Given the description of an element on the screen output the (x, y) to click on. 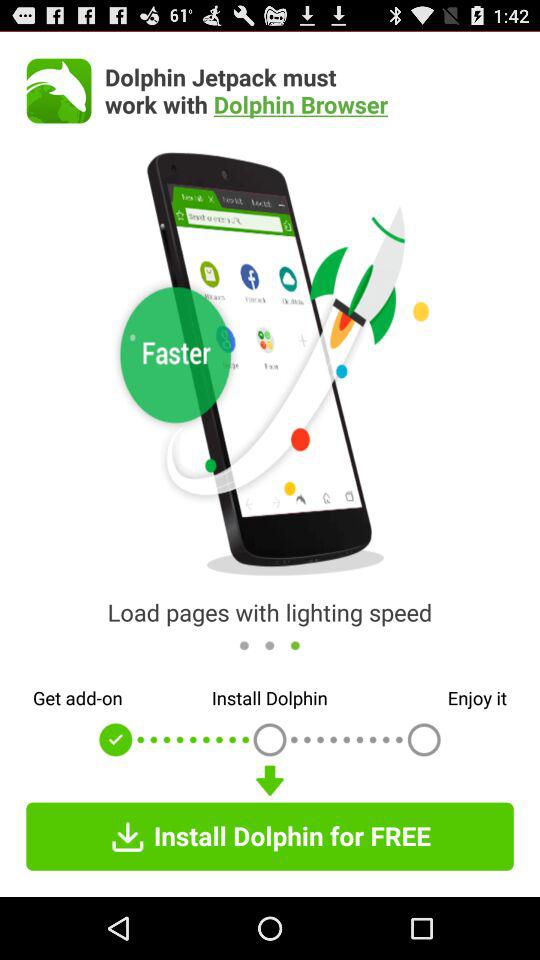
jump until dolphin jetpack must item (309, 90)
